Given the description of an element on the screen output the (x, y) to click on. 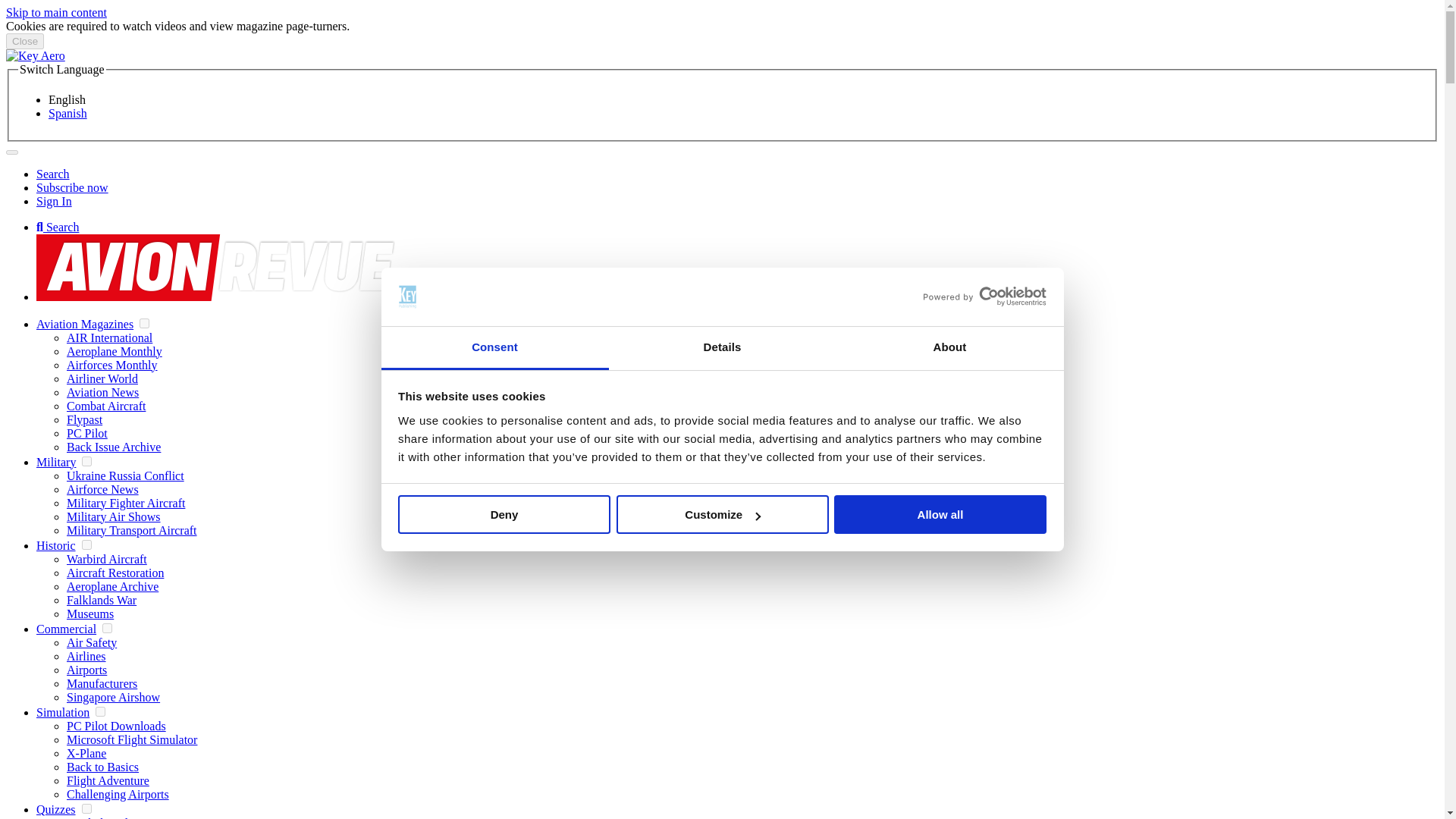
Details (721, 348)
About (948, 348)
on (86, 808)
on (144, 323)
on (86, 544)
on (106, 628)
Consent (494, 348)
on (100, 711)
on (86, 461)
